Given the description of an element on the screen output the (x, y) to click on. 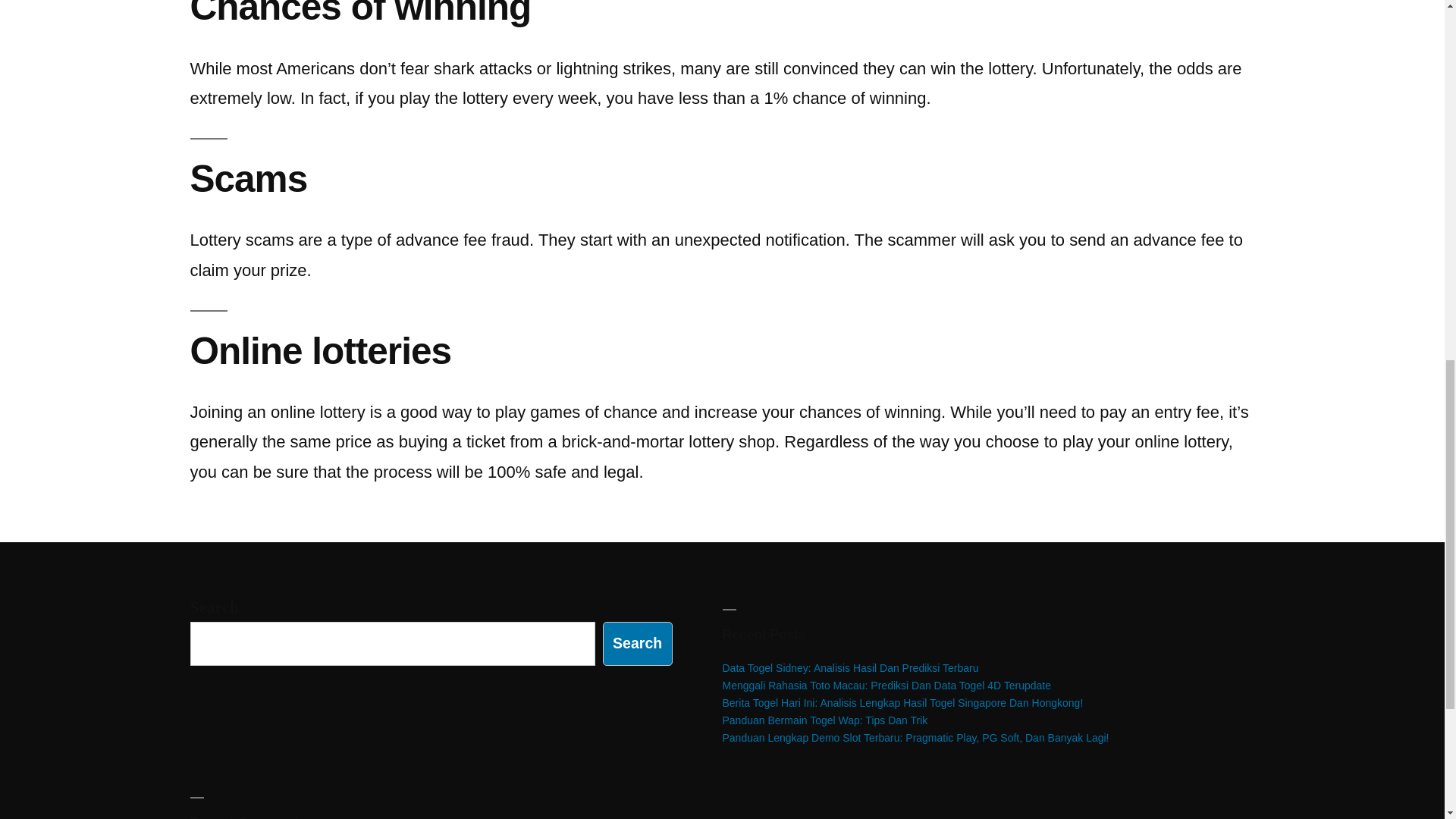
Panduan Bermain Togel Wap: Tips Dan Trik (824, 720)
Data Togel Sidney: Analisis Hasil Dan Prediksi Terbaru (850, 667)
Search (637, 643)
